Given the description of an element on the screen output the (x, y) to click on. 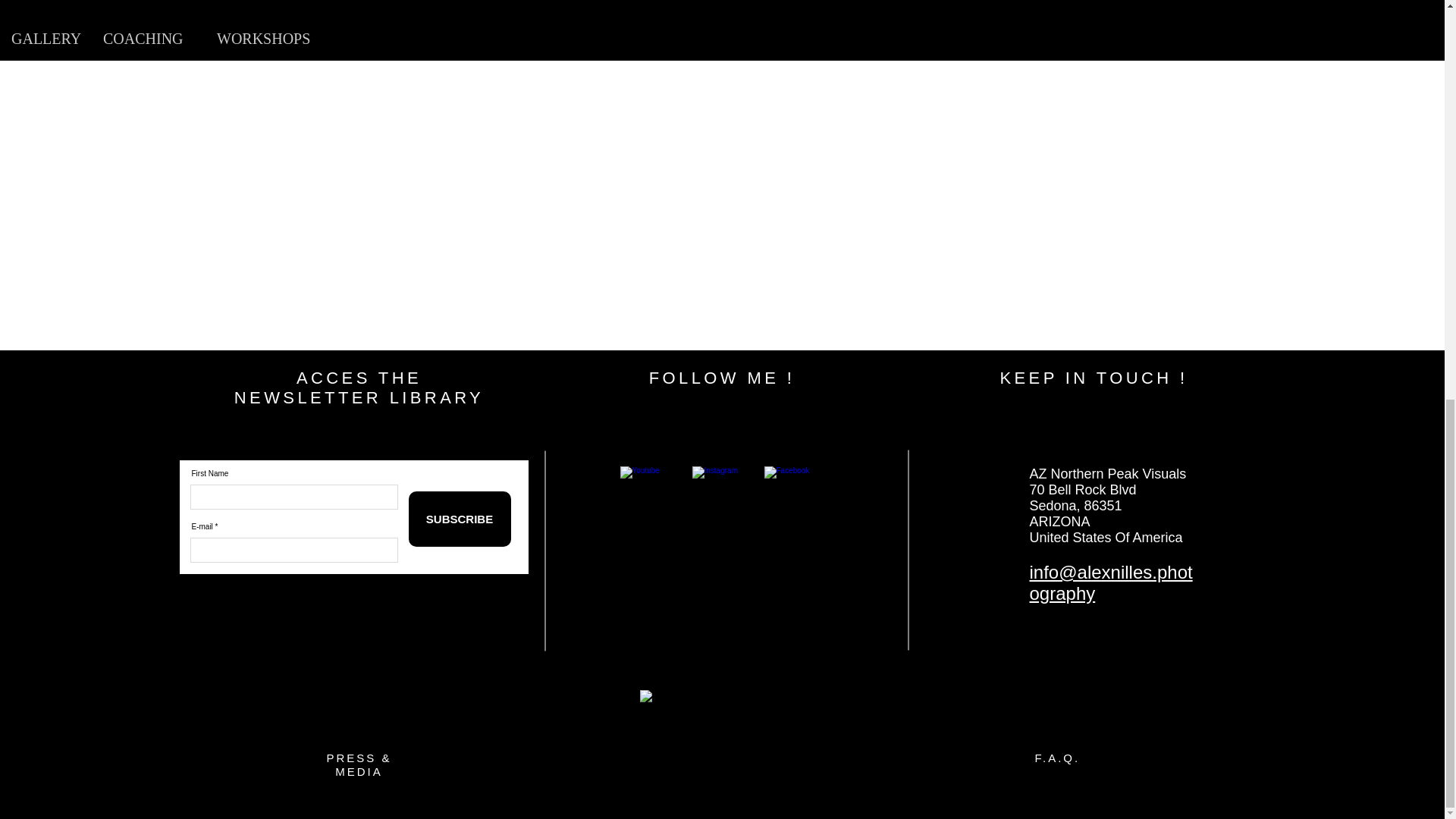
KEEP IN TOUCH ! (1093, 377)
F.A.Q. (1056, 758)
SUBSCRIBE (358, 387)
